Given the description of an element on the screen output the (x, y) to click on. 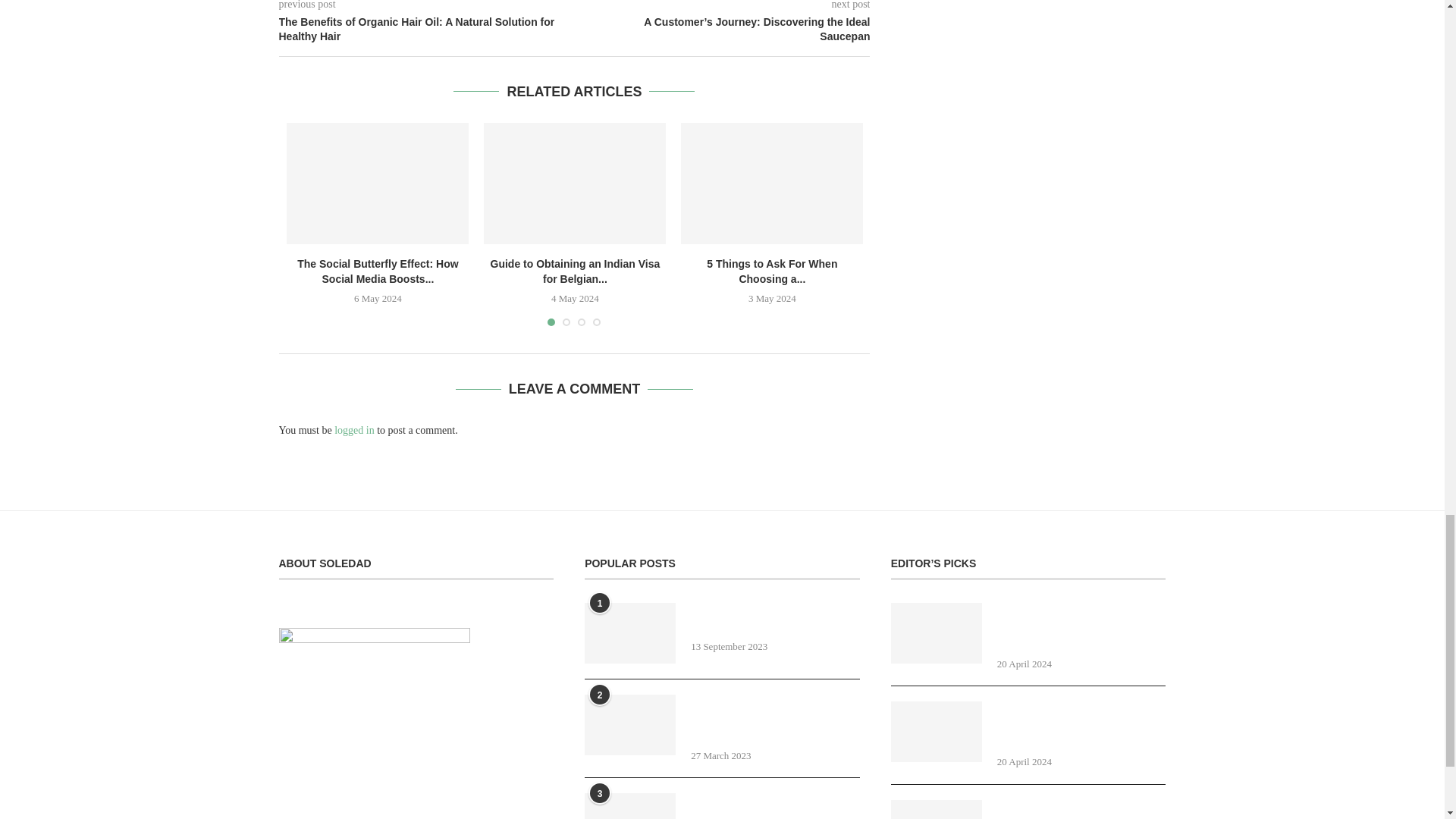
Guide to Obtaining an Indian Visa for Belgian Citizens (574, 183)
